Given the description of an element on the screen output the (x, y) to click on. 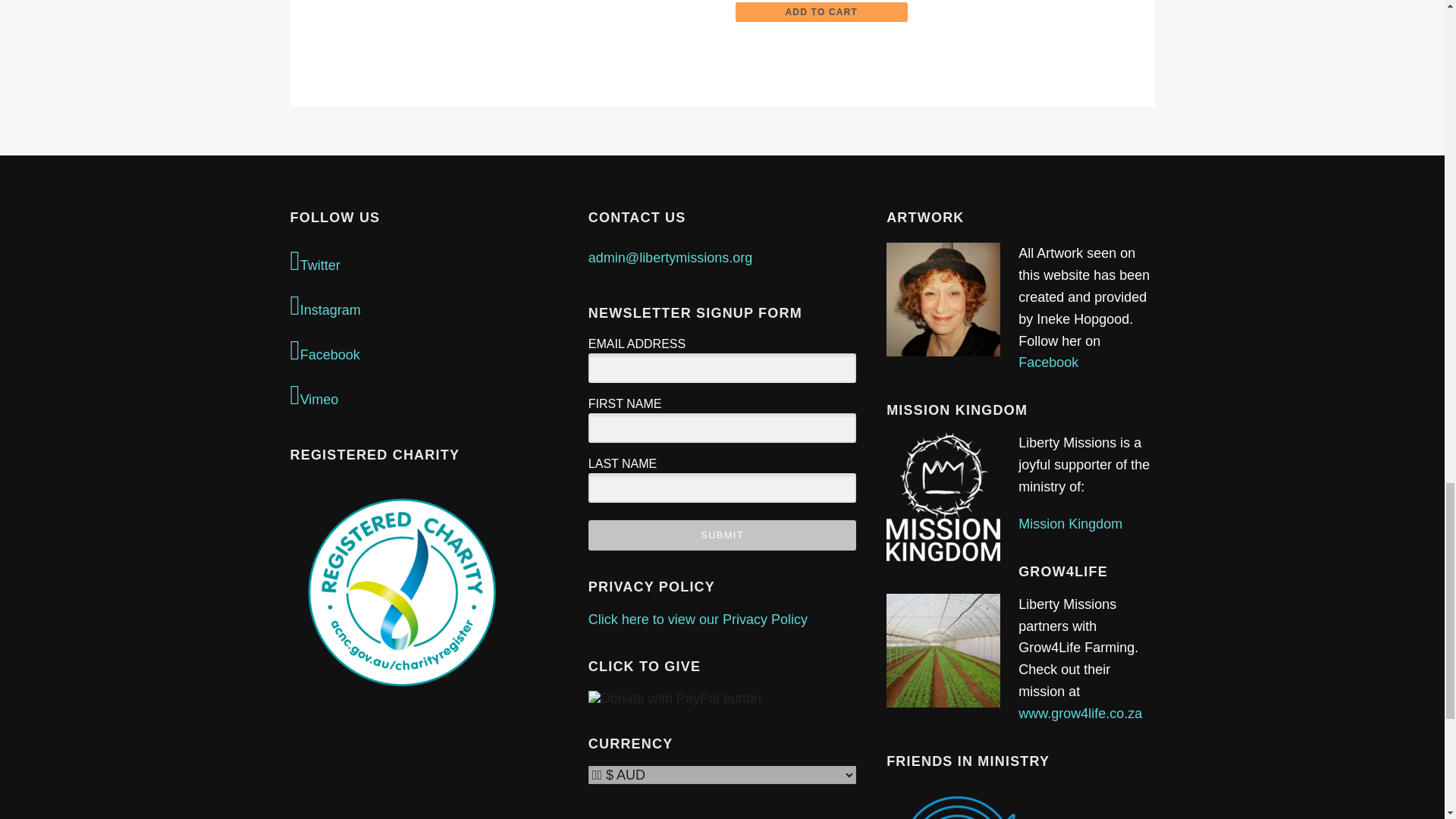
PayPal - The safer, easier way to pay online! (674, 698)
Visit Liberty Missions on Instagram (423, 306)
Visit Liberty Missions on Twitter (423, 261)
Visit Liberty Missions on Facebook (423, 351)
Visit Liberty Missions on Vimeo (423, 396)
